Given the description of an element on the screen output the (x, y) to click on. 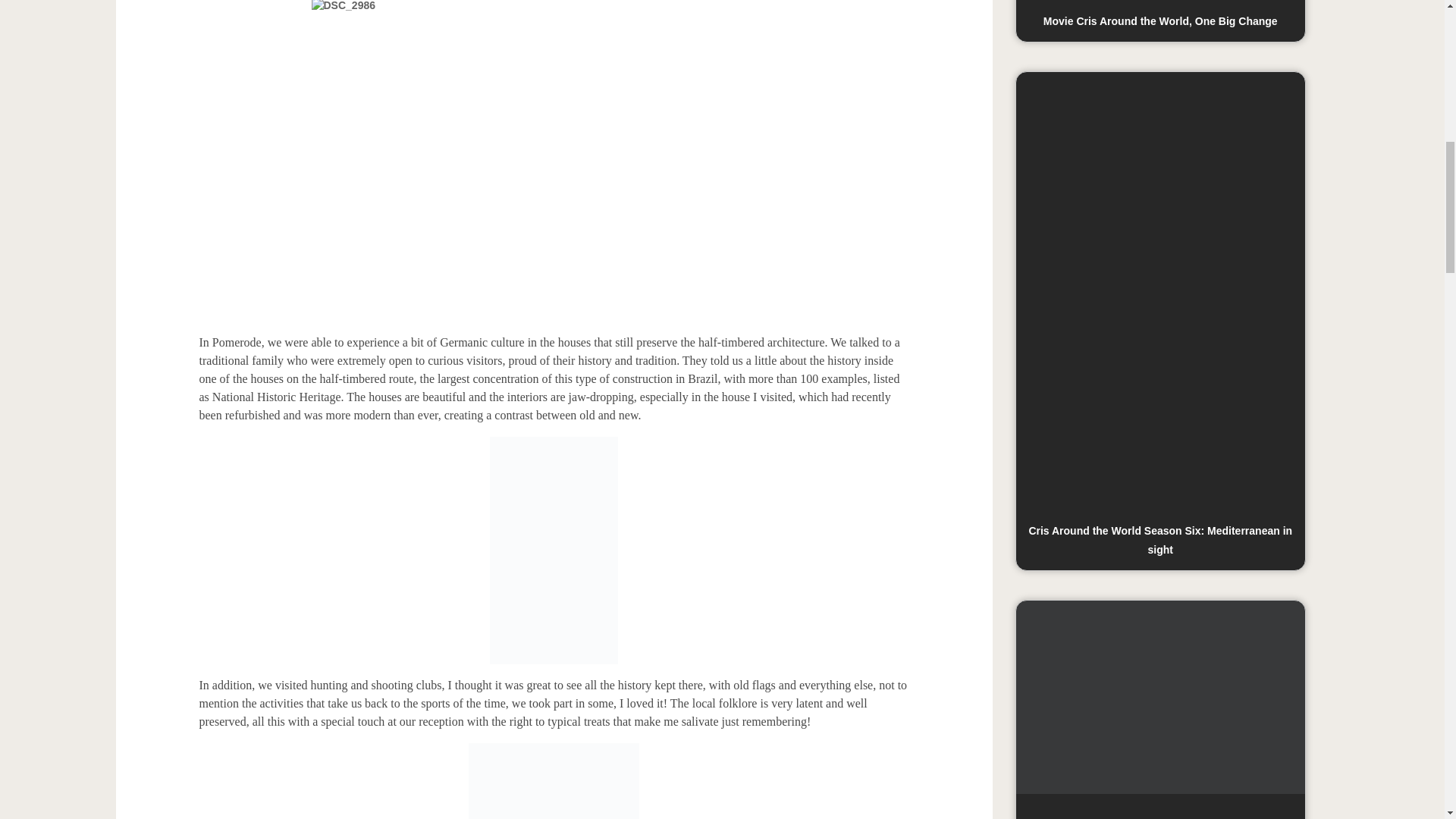
Movie Cris Around the World, One Big Change (1160, 21)
Pomerode 8 - Cris Pelo Mundo (553, 780)
